Given the description of an element on the screen output the (x, y) to click on. 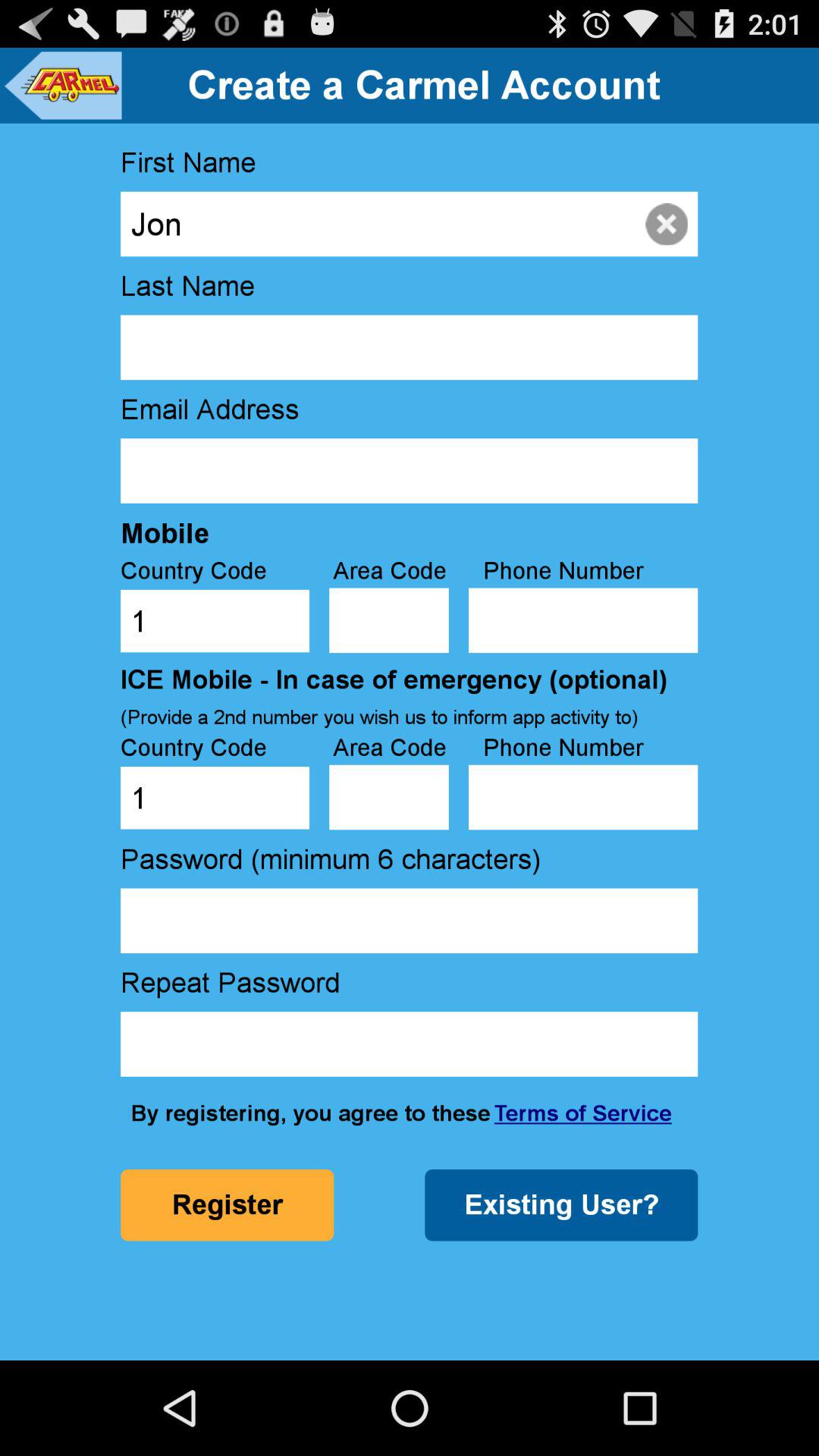
turn off the terms of service item (582, 1113)
